Given the description of an element on the screen output the (x, y) to click on. 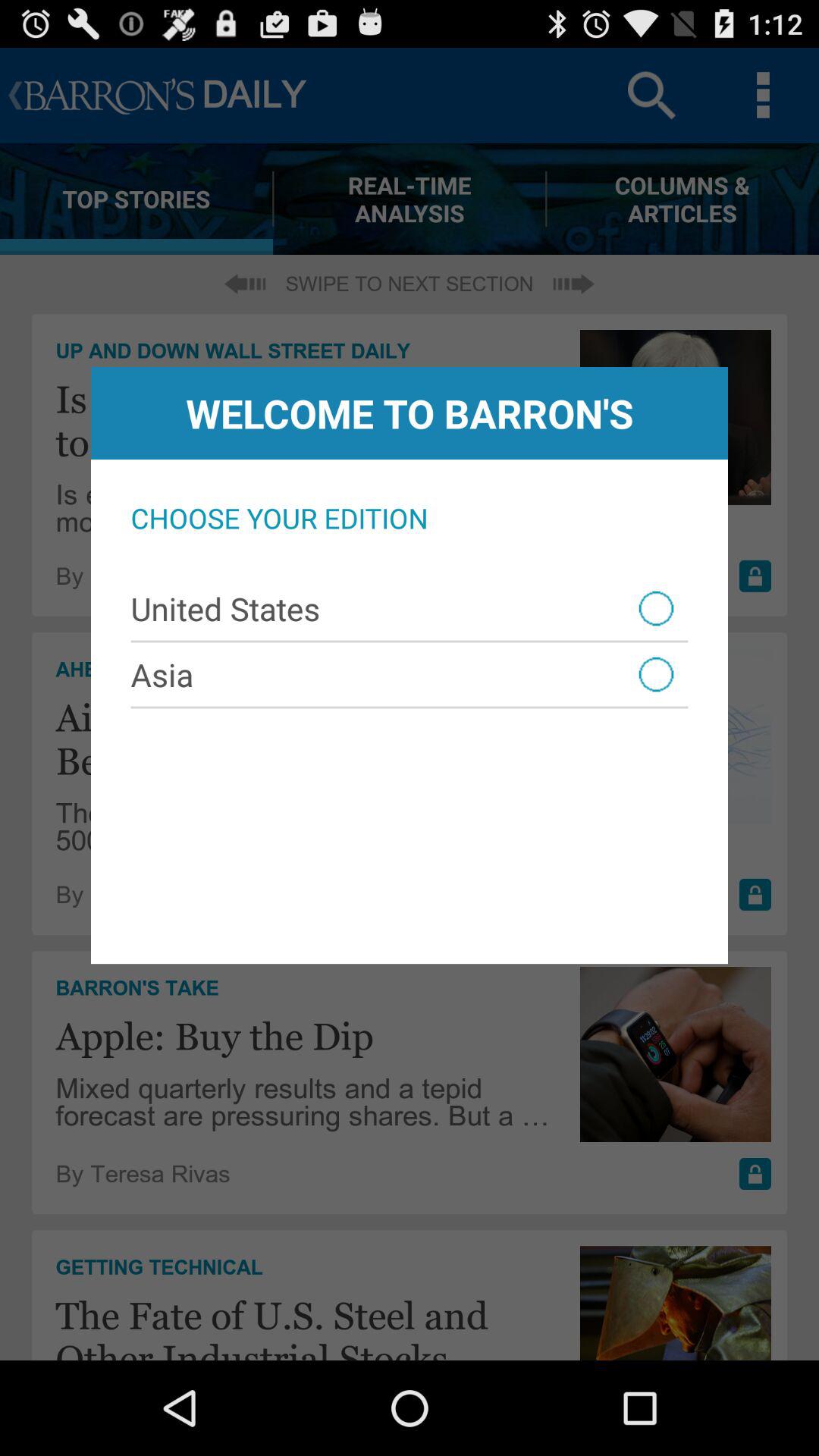
swipe to the united states icon (409, 608)
